Given the description of an element on the screen output the (x, y) to click on. 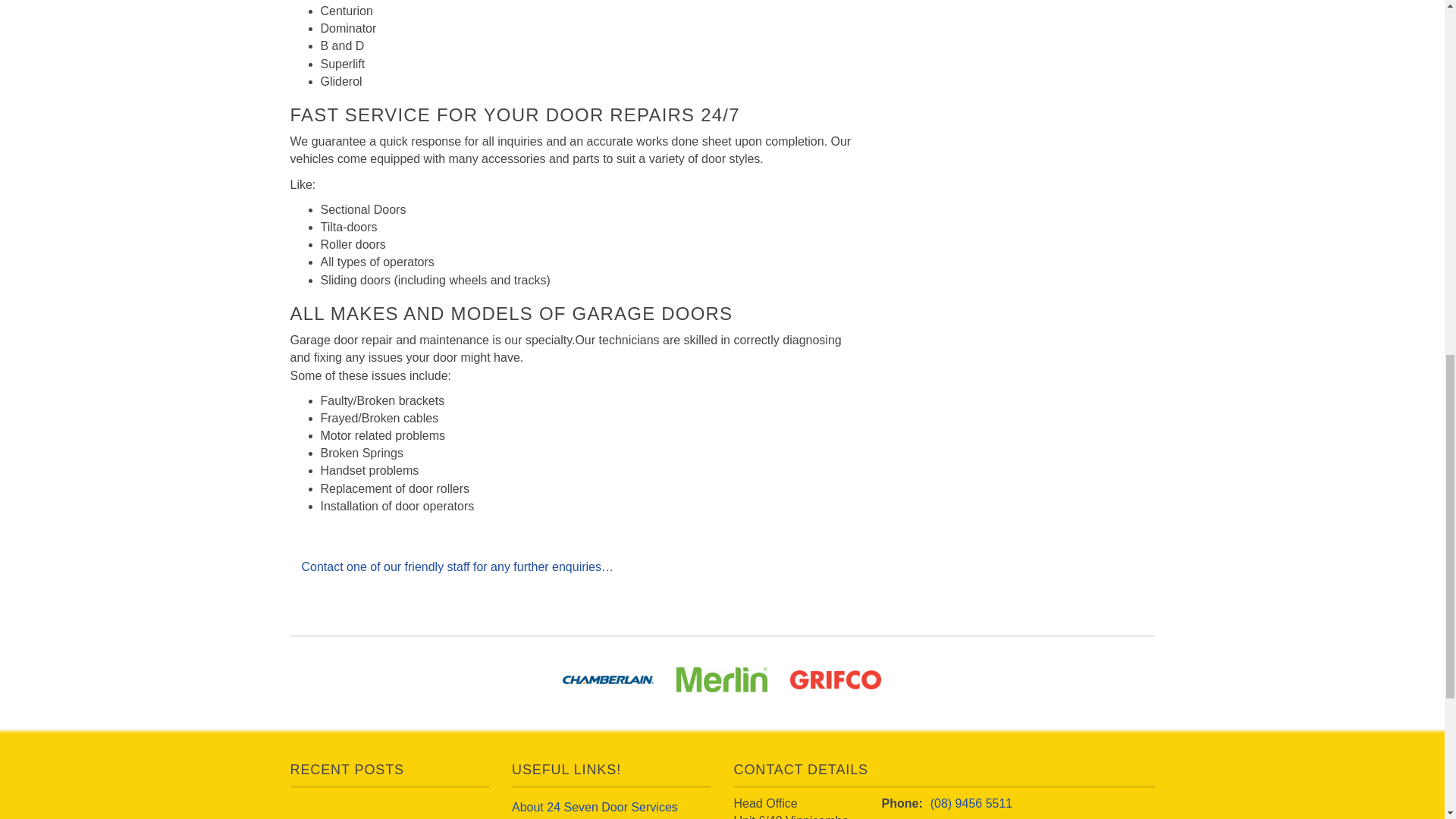
About 24 Seven Door Services (595, 807)
